Given the description of an element on the screen output the (x, y) to click on. 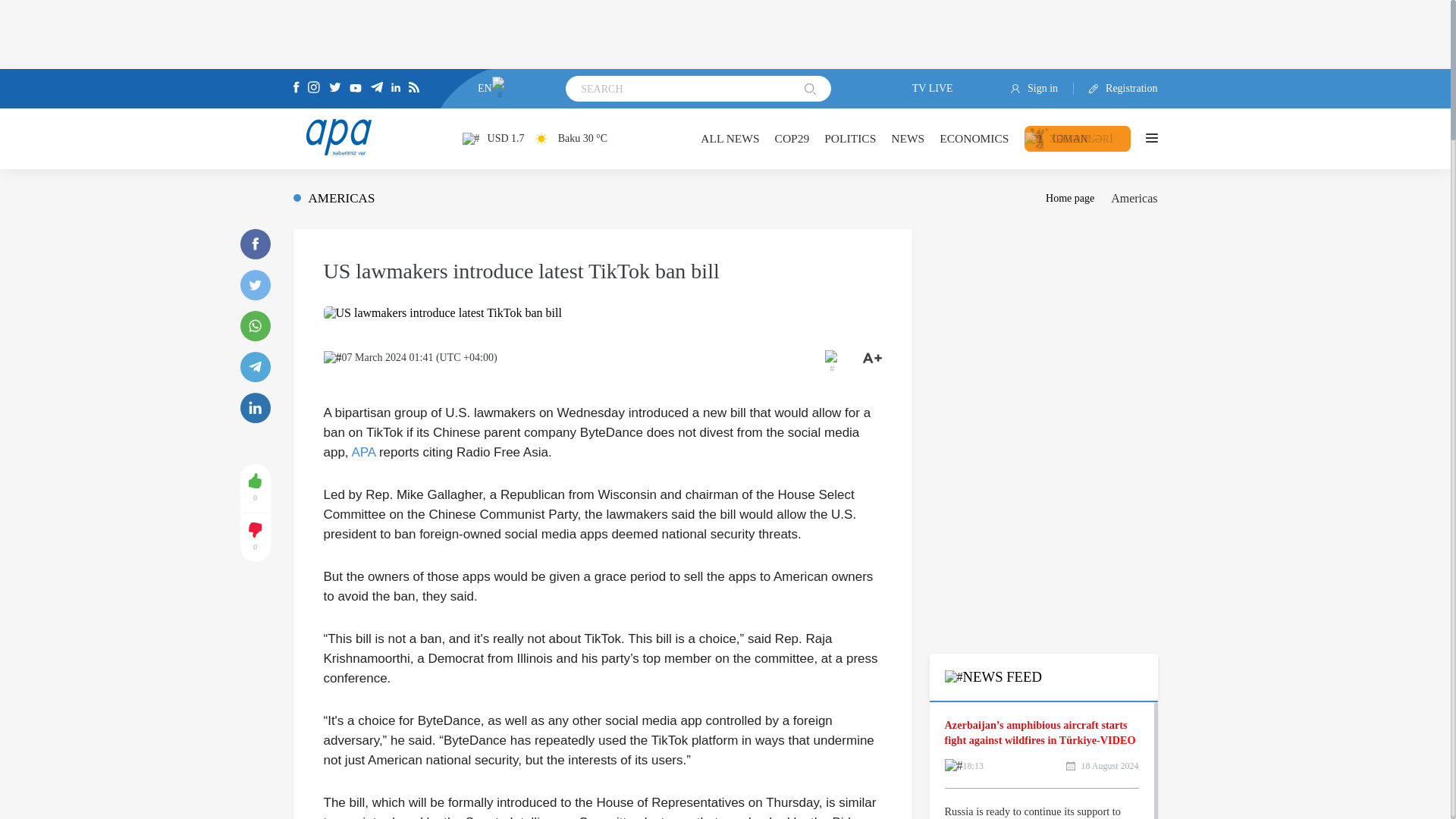
Sign in (1042, 88)
POLITICS (850, 138)
ALL NEWS (729, 138)
Registration (1115, 88)
NEWS (907, 138)
USD 1.7 (493, 138)
TV LIVE (921, 88)
ECONOMICS (974, 138)
COP29 (791, 138)
